Given the description of an element on the screen output the (x, y) to click on. 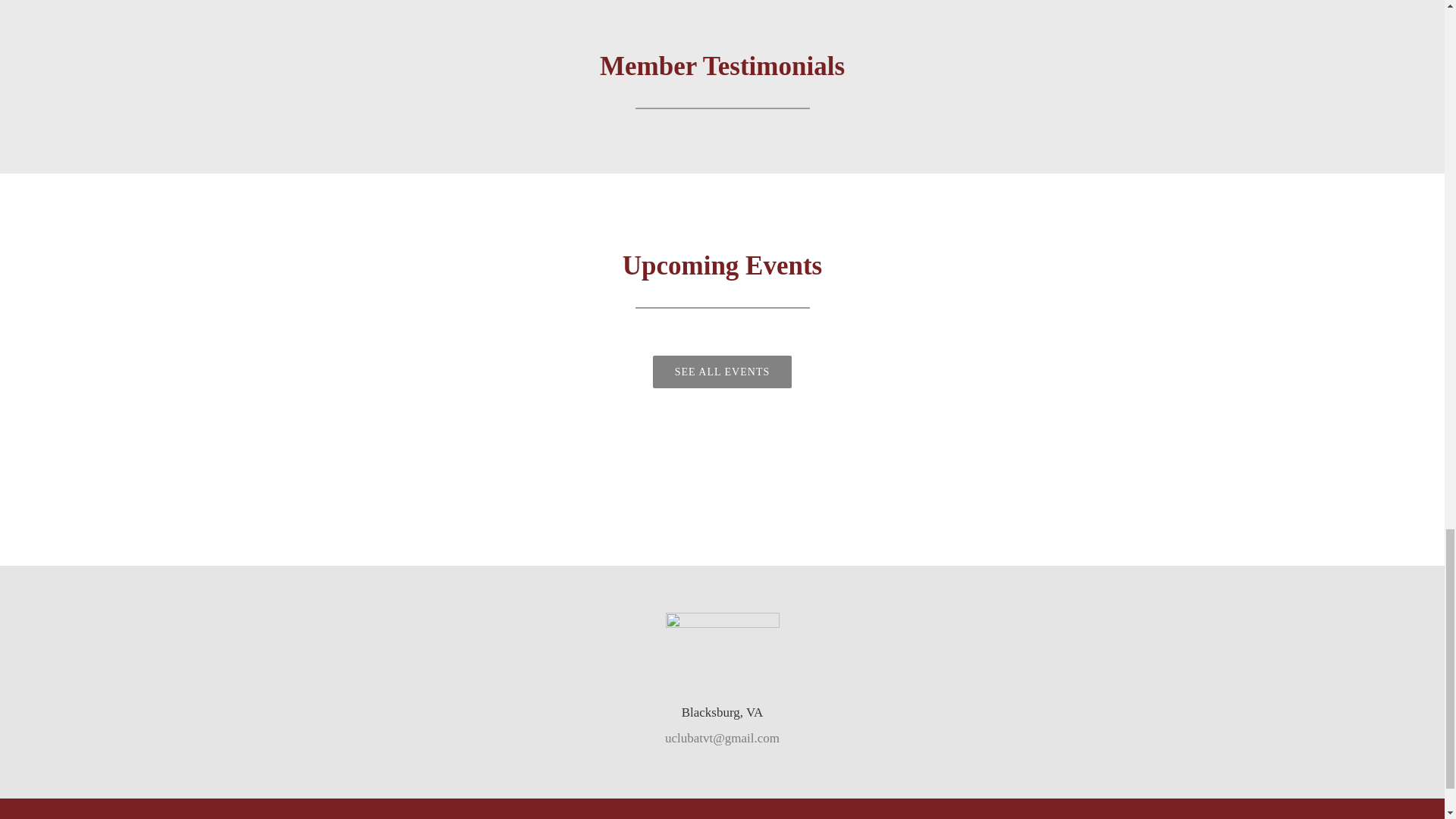
SEE ALL EVENTS (722, 371)
